Given the description of an element on the screen output the (x, y) to click on. 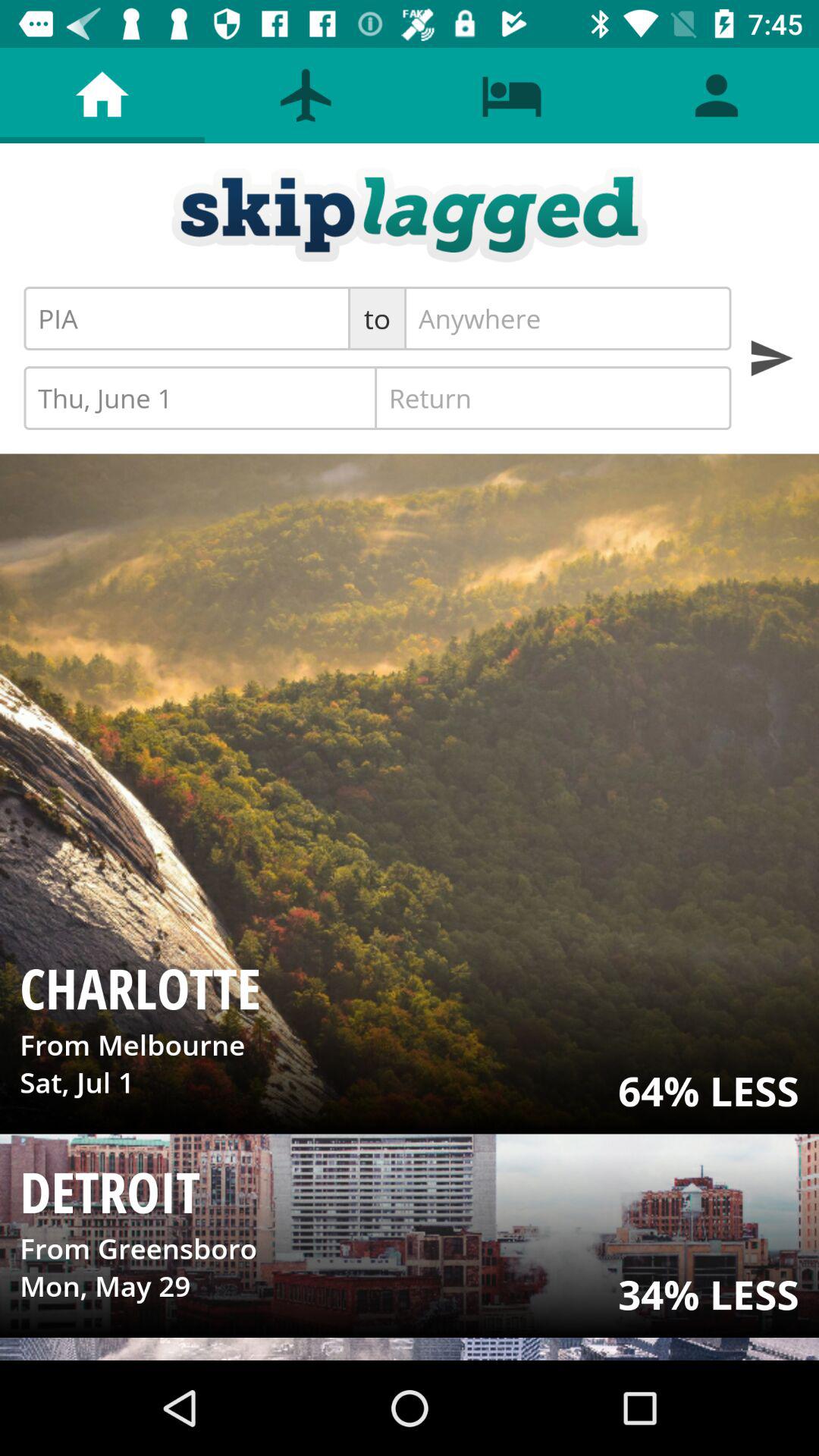
open icon next to thu, june 1 icon (553, 397)
